Given the description of an element on the screen output the (x, y) to click on. 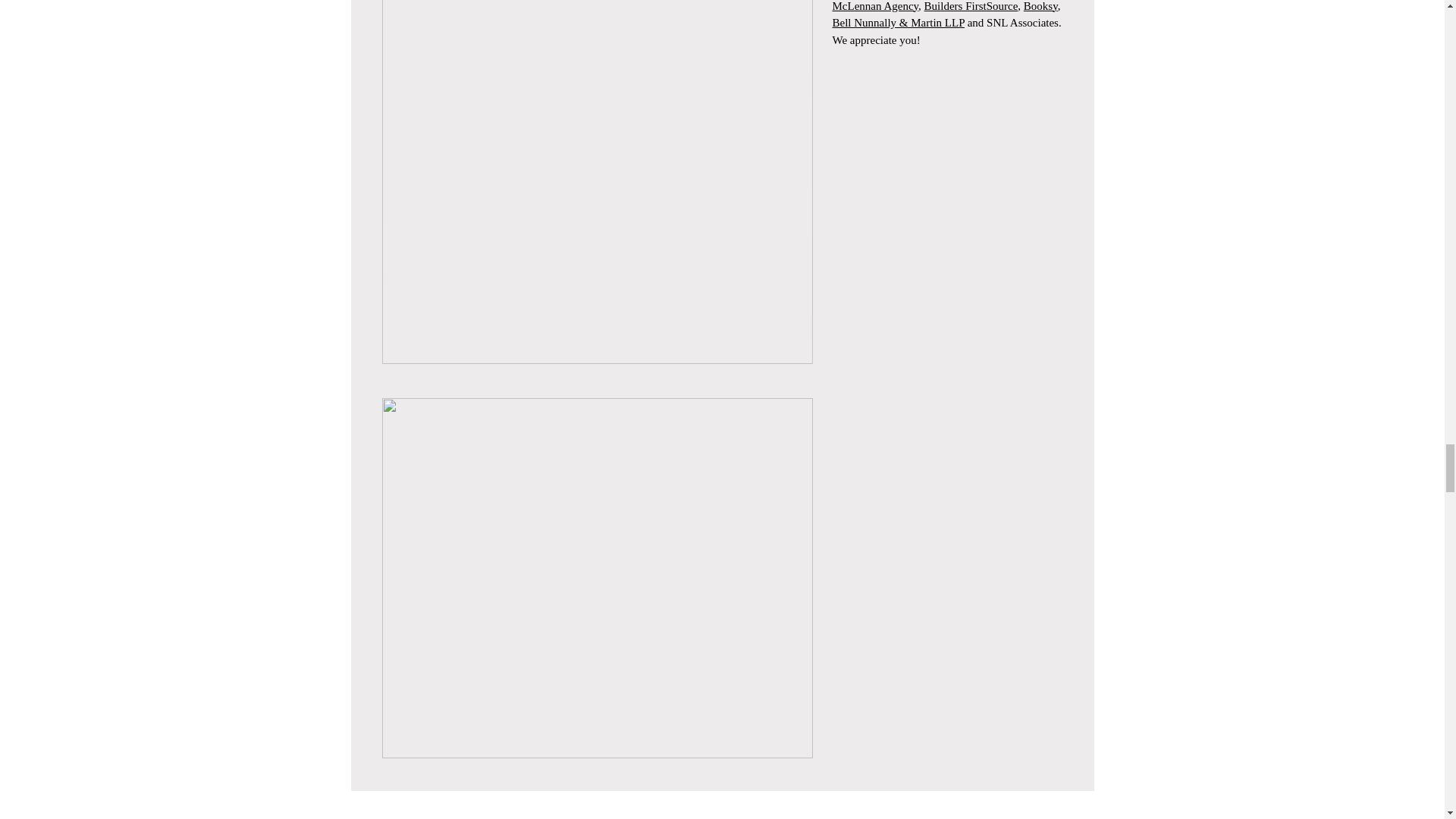
Marsh McLennan Agency (929, 6)
Booksy (1040, 6)
Builders FirstSource (970, 6)
